Given the description of an element on the screen output the (x, y) to click on. 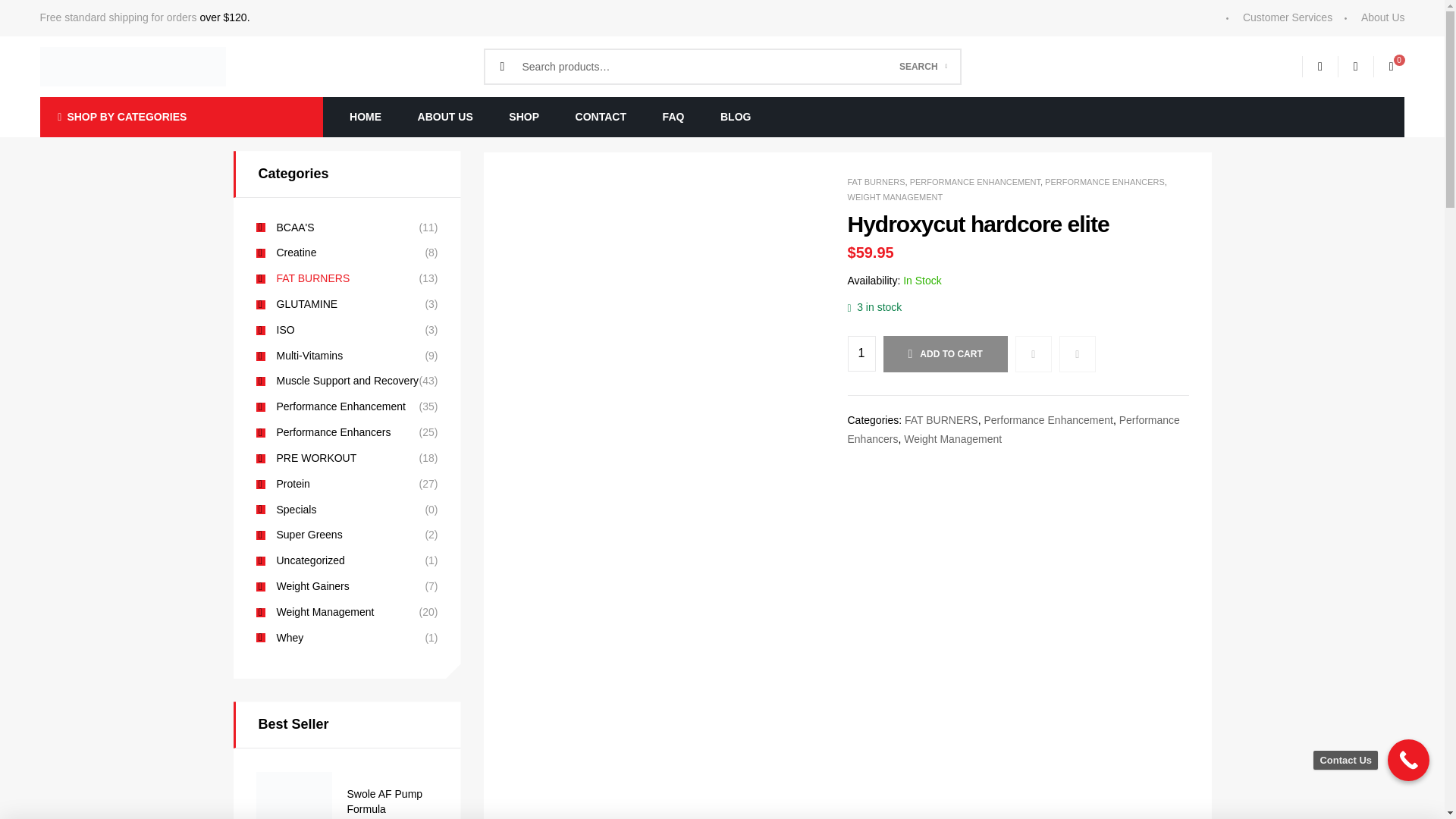
ABOUT US (445, 117)
FAQ (673, 117)
0 (1383, 66)
CONTACT (601, 117)
SHOP (524, 117)
SEARCH (922, 66)
BLOG (734, 117)
Customer Services (1278, 17)
View your shopping cart (1383, 66)
HOME (364, 117)
SHOP BY CATEGORIES (181, 117)
About Us (1374, 17)
FAT BURNERS (876, 181)
